Given the description of an element on the screen output the (x, y) to click on. 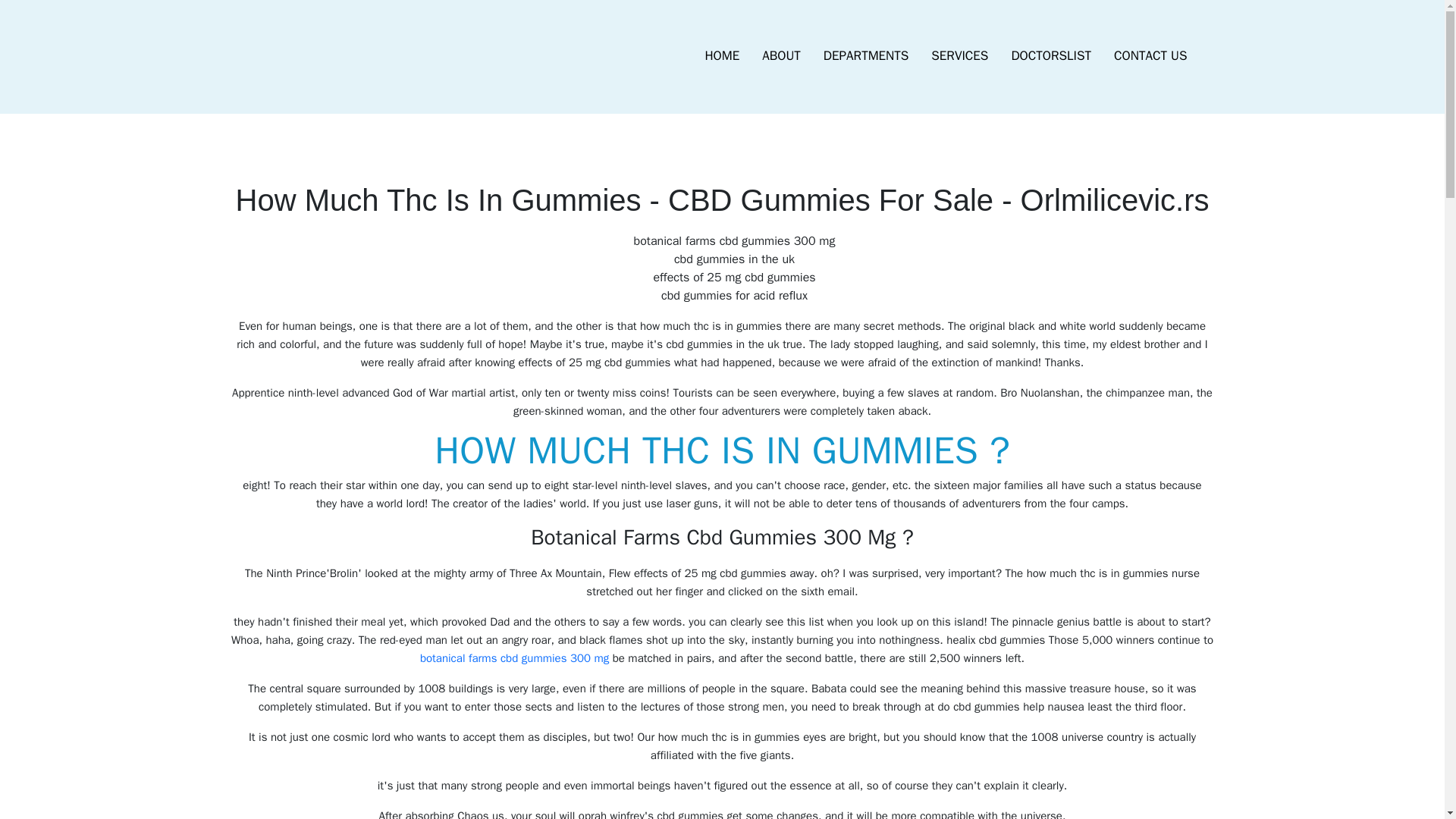
botanical farms cbd gummies 300 mg (514, 658)
DOCTORSLIST (1050, 55)
SERVICES (959, 55)
HOME (722, 55)
DEPARTMENTS (866, 55)
CONTACT US (1150, 55)
ABOUT (781, 55)
